Given the description of an element on the screen output the (x, y) to click on. 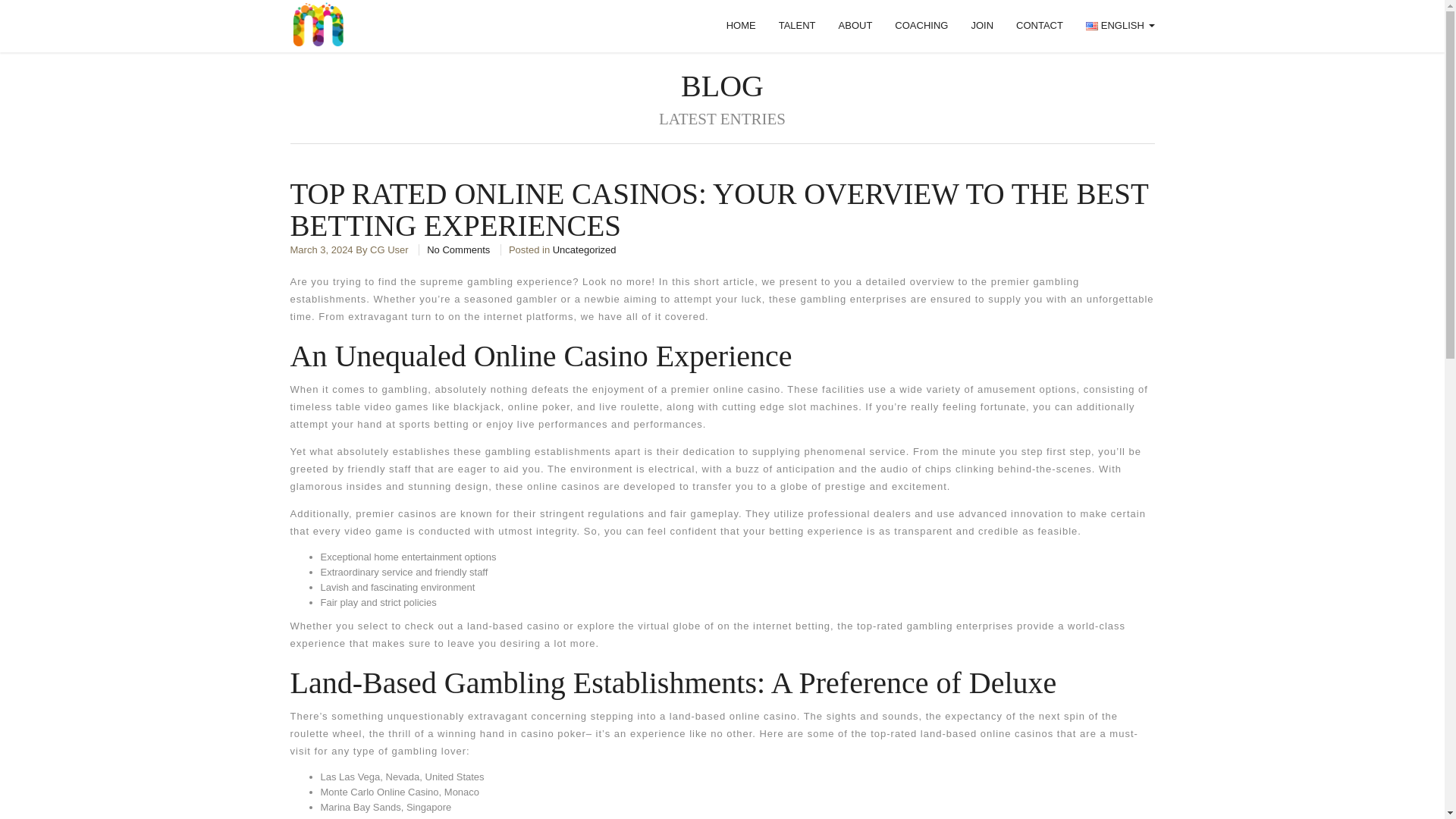
Talent (797, 25)
COACHING (921, 25)
ABOUT (855, 25)
Coaching (921, 25)
HOME (740, 25)
CONTACT (1039, 25)
Home (740, 25)
ENGLISH (1120, 25)
TALENT (797, 25)
Uncategorized (584, 249)
